Given the description of an element on the screen output the (x, y) to click on. 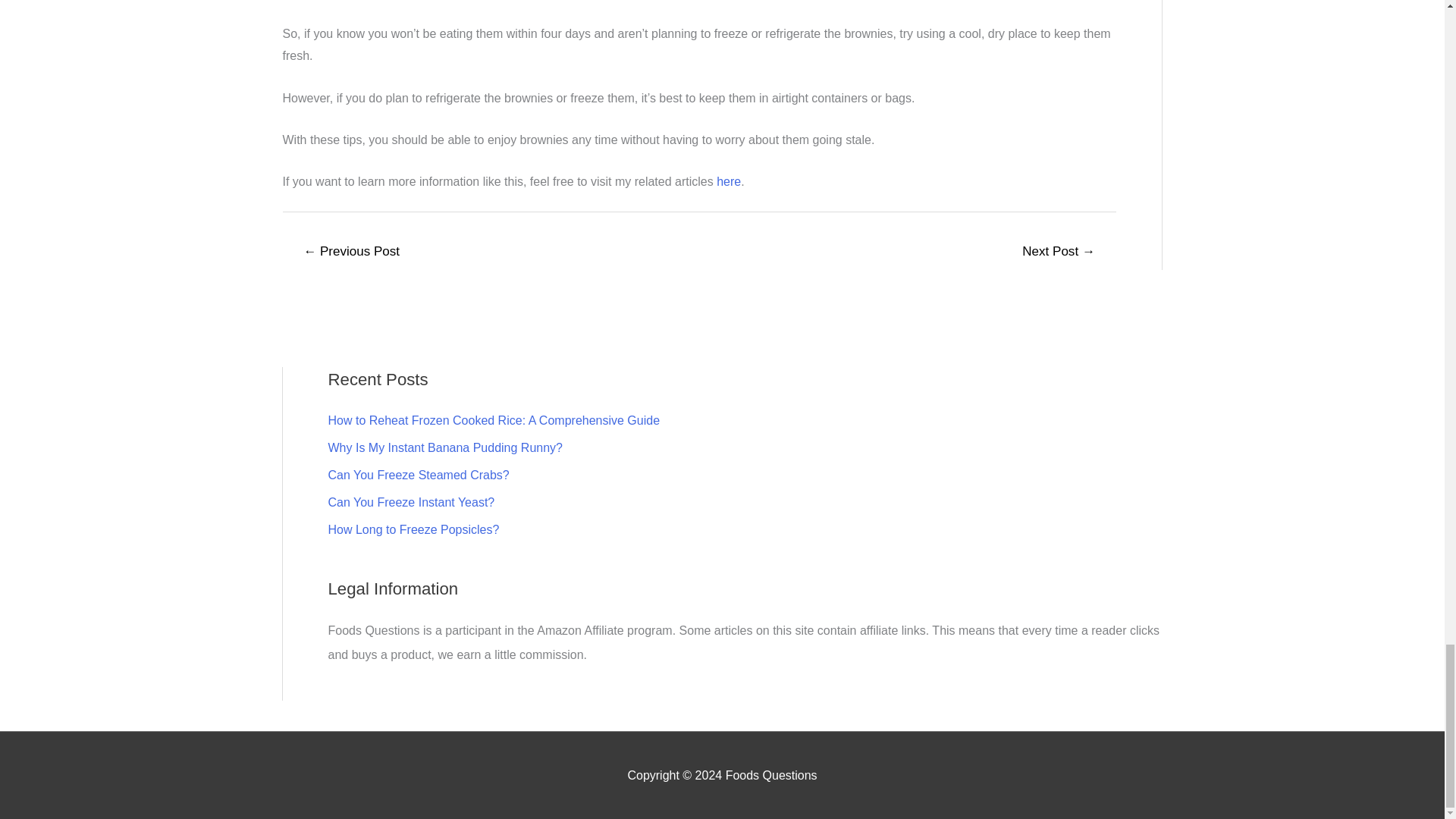
How Long to Freeze Popsicles? (413, 529)
Why Is My Instant Banana Pudding Runny? (444, 447)
Can You Freeze Instant Yeast? (411, 502)
here (728, 181)
How to Reheat Frozen Cooked Rice: A Comprehensive Guide (493, 420)
Can You Freeze Steamed Crabs? (417, 474)
